Given the description of an element on the screen output the (x, y) to click on. 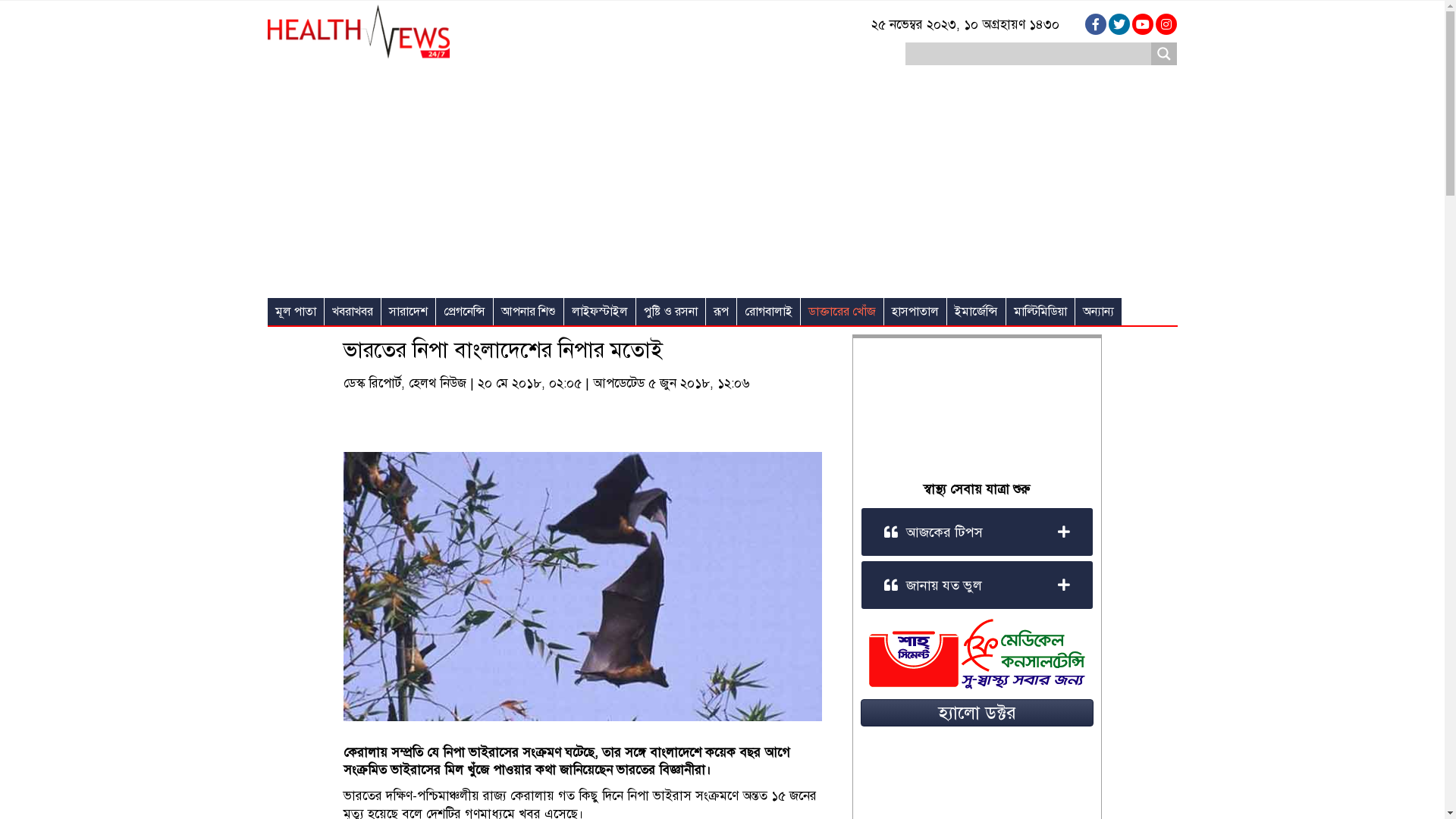
nipah-virus Element type: hover (581, 586)
Free Medical Element type: hover (976, 653)
logo10 Element type: hover (357, 31)
Advertisement Element type: hover (721, 184)
